Given the description of an element on the screen output the (x, y) to click on. 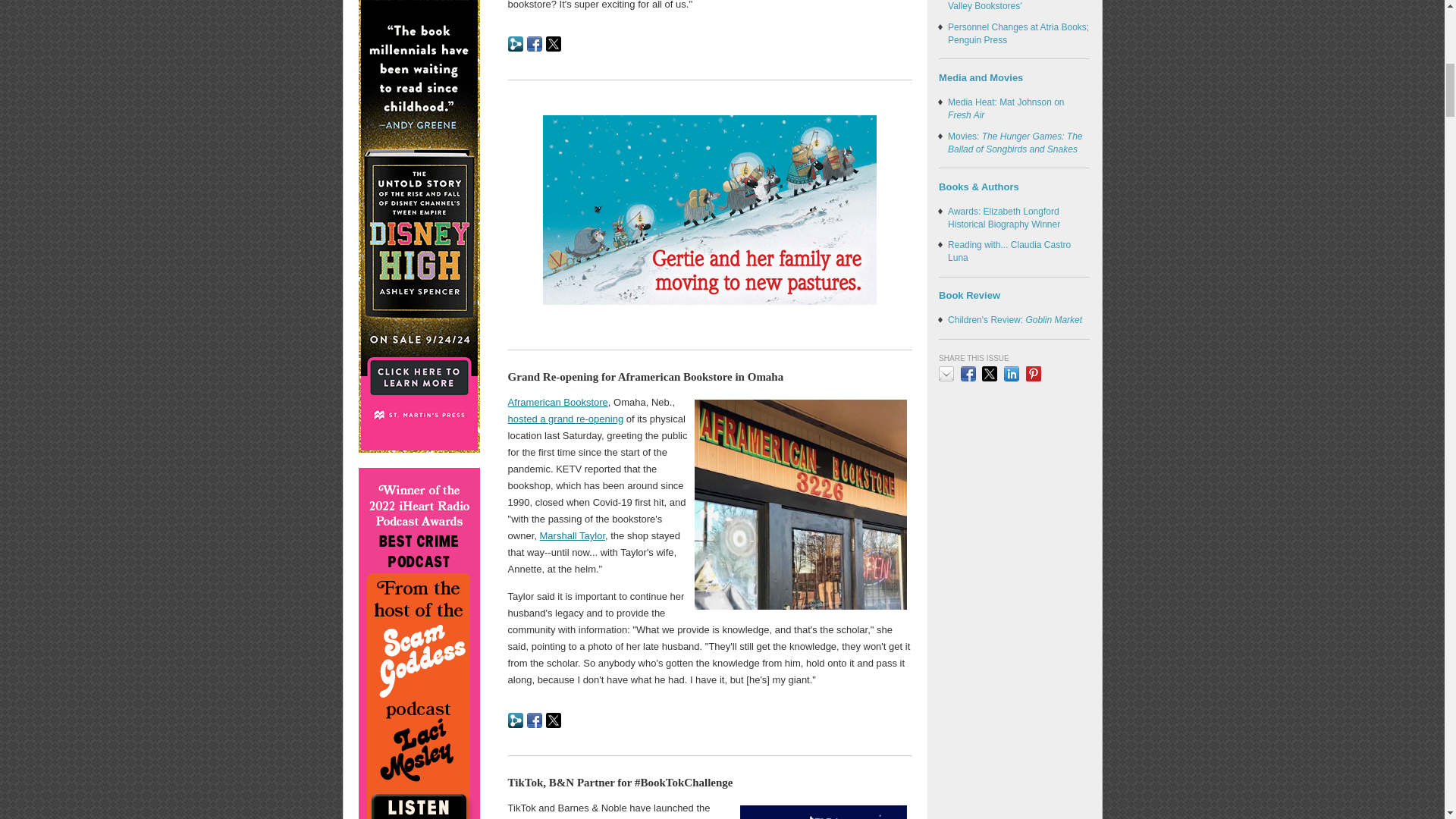
Share to X (553, 719)
Share to Facebook (534, 719)
Aframerican Bookstore (558, 401)
Share to Facebook (534, 44)
X (553, 44)
Facebook (534, 719)
Share to X (553, 44)
Facebook (534, 44)
hosted a grand re-opening (566, 419)
X (553, 719)
Marshall Taylor (572, 535)
